Given the description of an element on the screen output the (x, y) to click on. 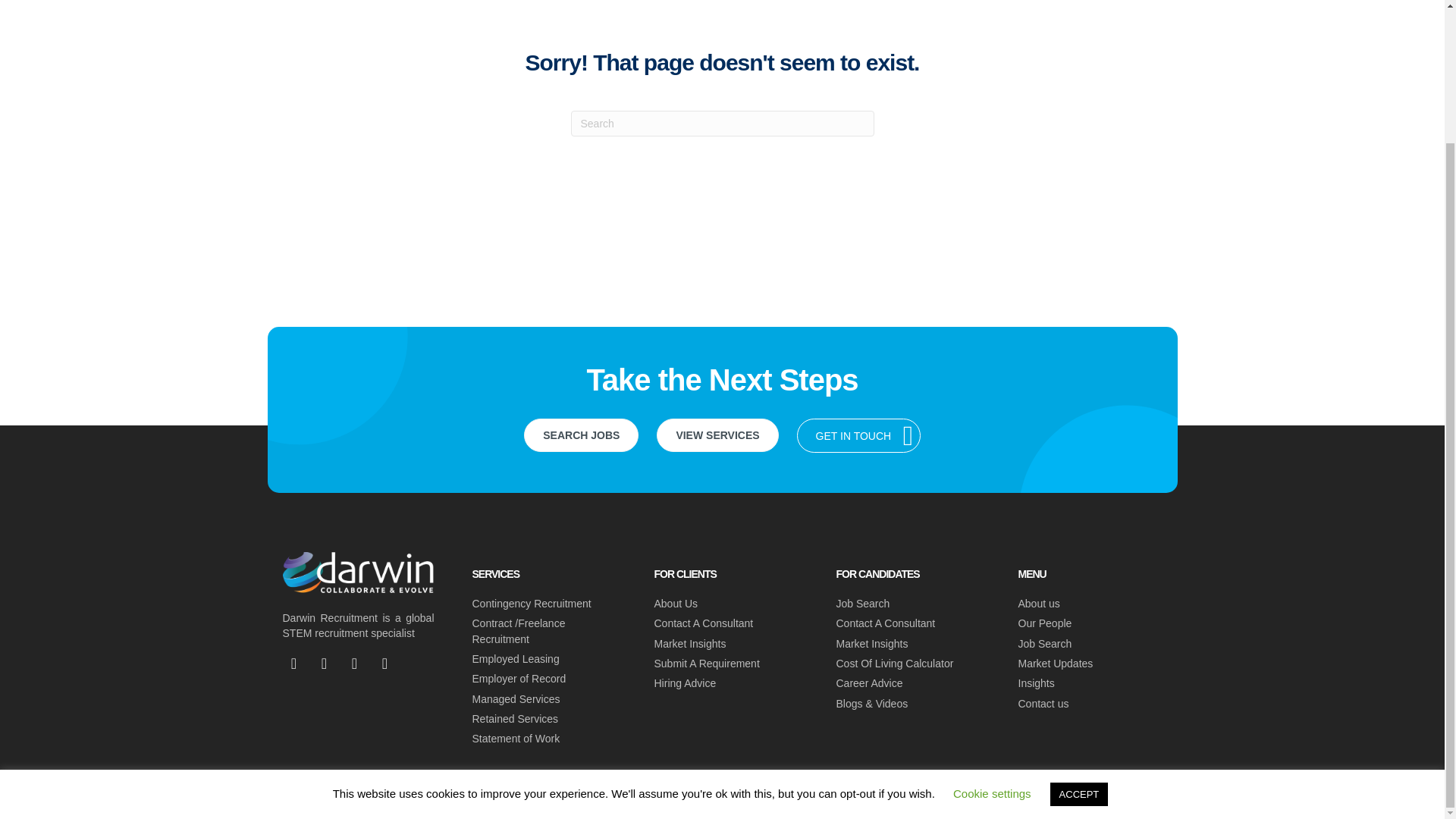
Main Darwin Logo HORIZONTAL WHITE FONT 2024 (357, 573)
Type and press Enter to search. (721, 123)
